Given the description of an element on the screen output the (x, y) to click on. 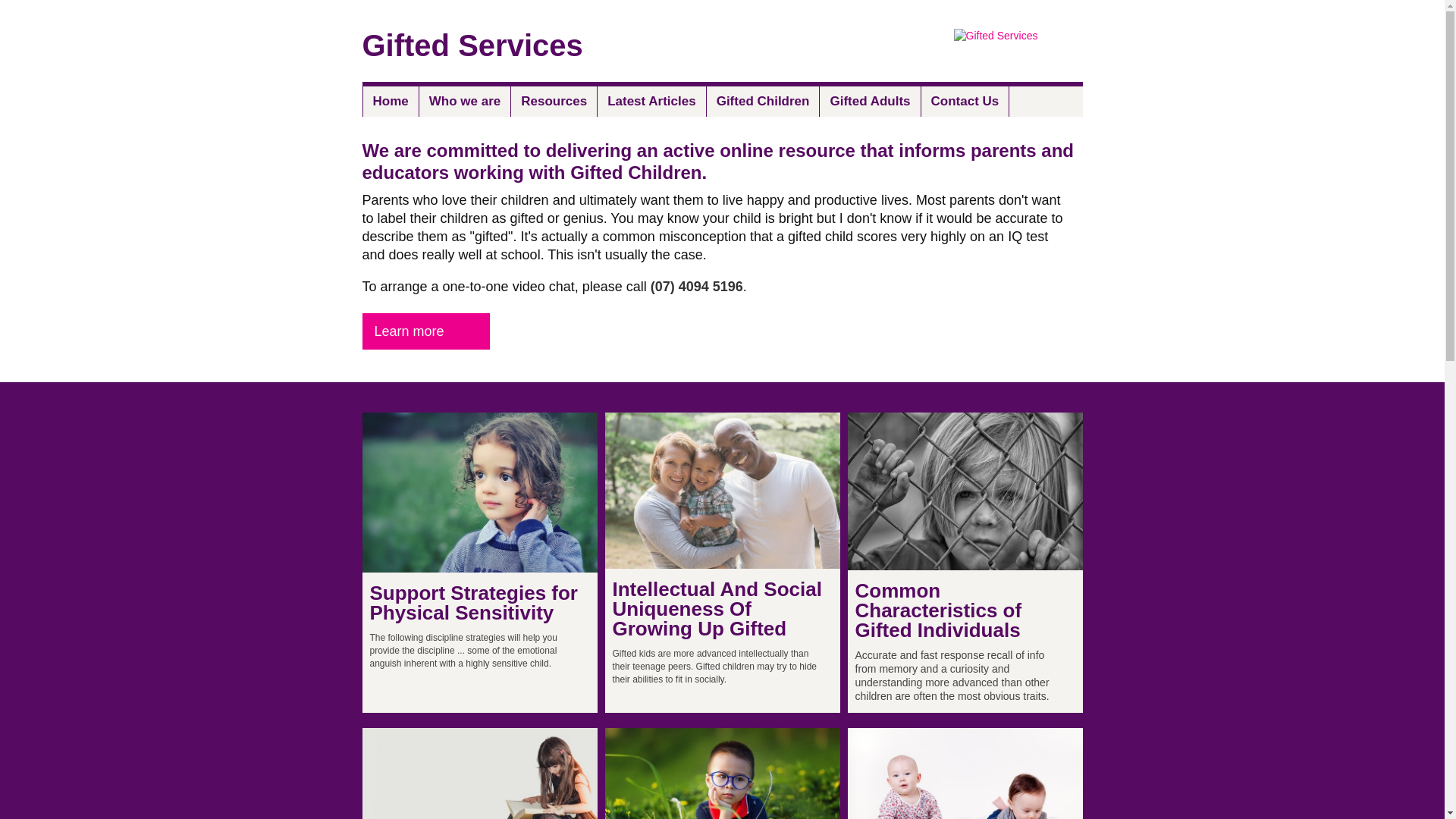
Who we are Element type: text (465, 101)
Home Element type: text (390, 101)
Resources Element type: text (554, 101)
Gifted Adults Element type: text (869, 101)
Latest Articles Element type: text (651, 101)
Learn more Element type: text (425, 331)
Contact Us Element type: text (965, 101)
Gifted Children Element type: text (763, 101)
